Given the description of an element on the screen output the (x, y) to click on. 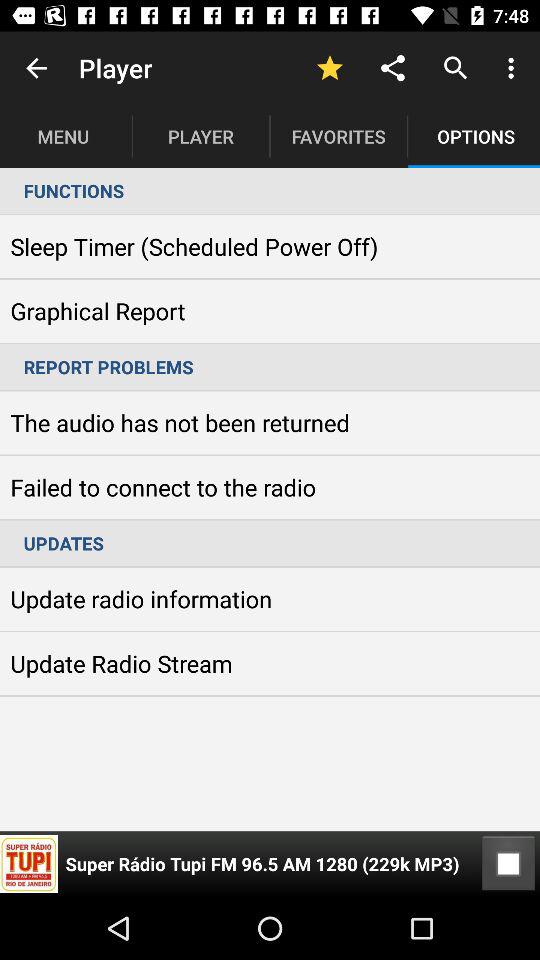
launch the icon to the left of player item (36, 68)
